Given the description of an element on the screen output the (x, y) to click on. 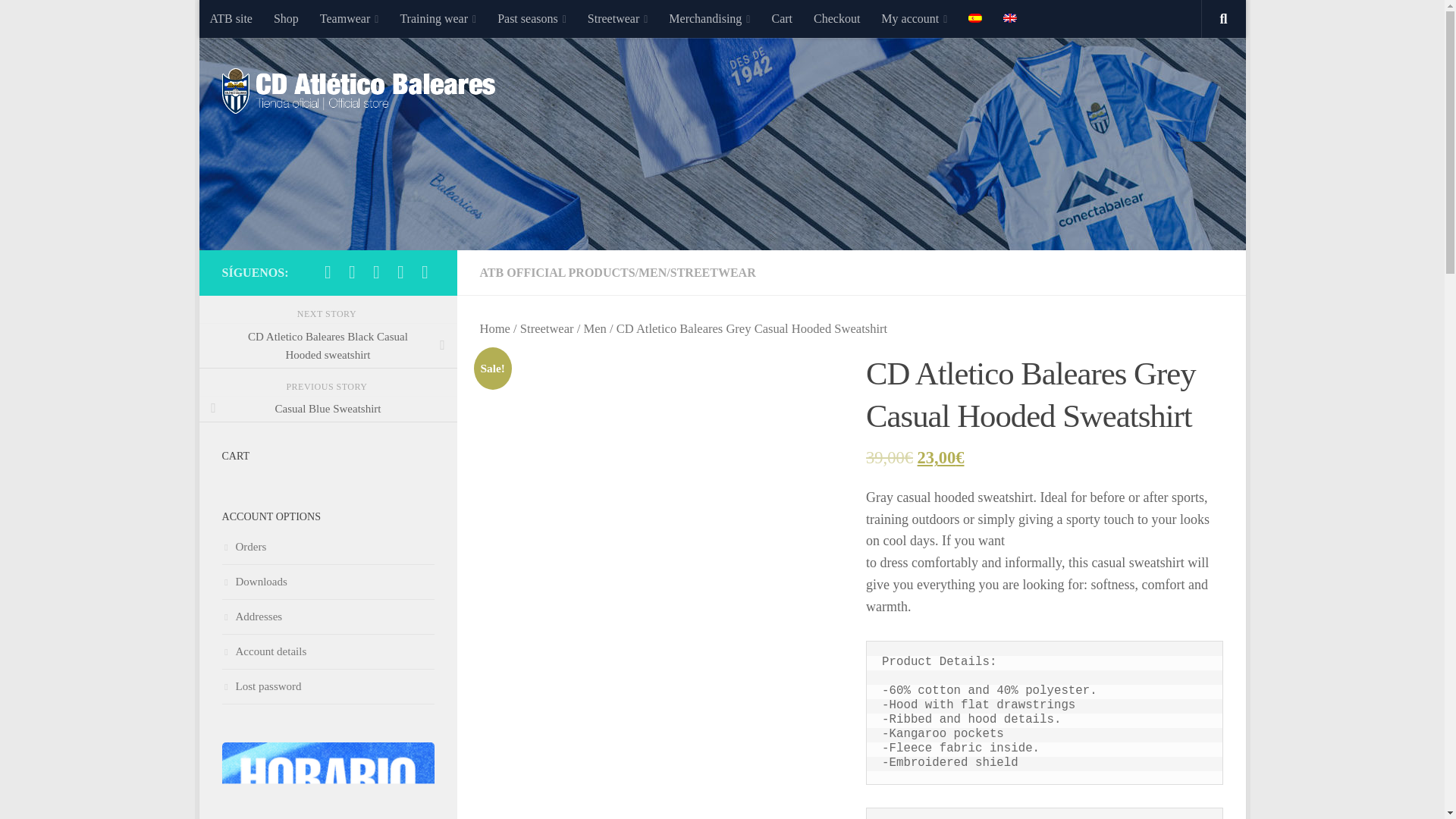
Skip to content (258, 20)
Shop (285, 18)
ATB site (230, 18)
